Given the description of an element on the screen output the (x, y) to click on. 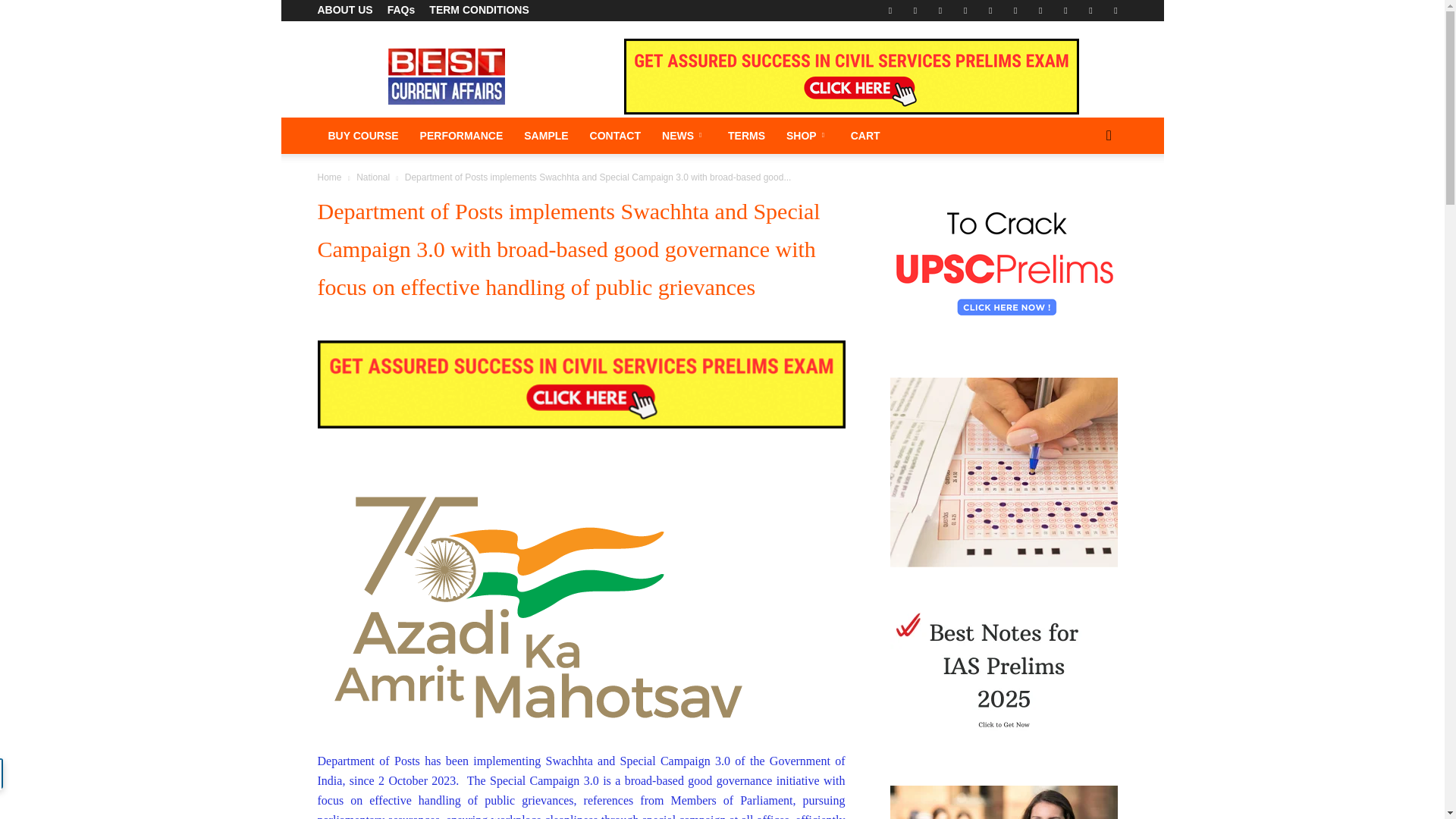
Instagram (964, 10)
FAQs (400, 9)
TERM CONDITIONS (478, 9)
ABOUT US (344, 9)
Flickr (915, 10)
Facebook (890, 10)
